Given the description of an element on the screen output the (x, y) to click on. 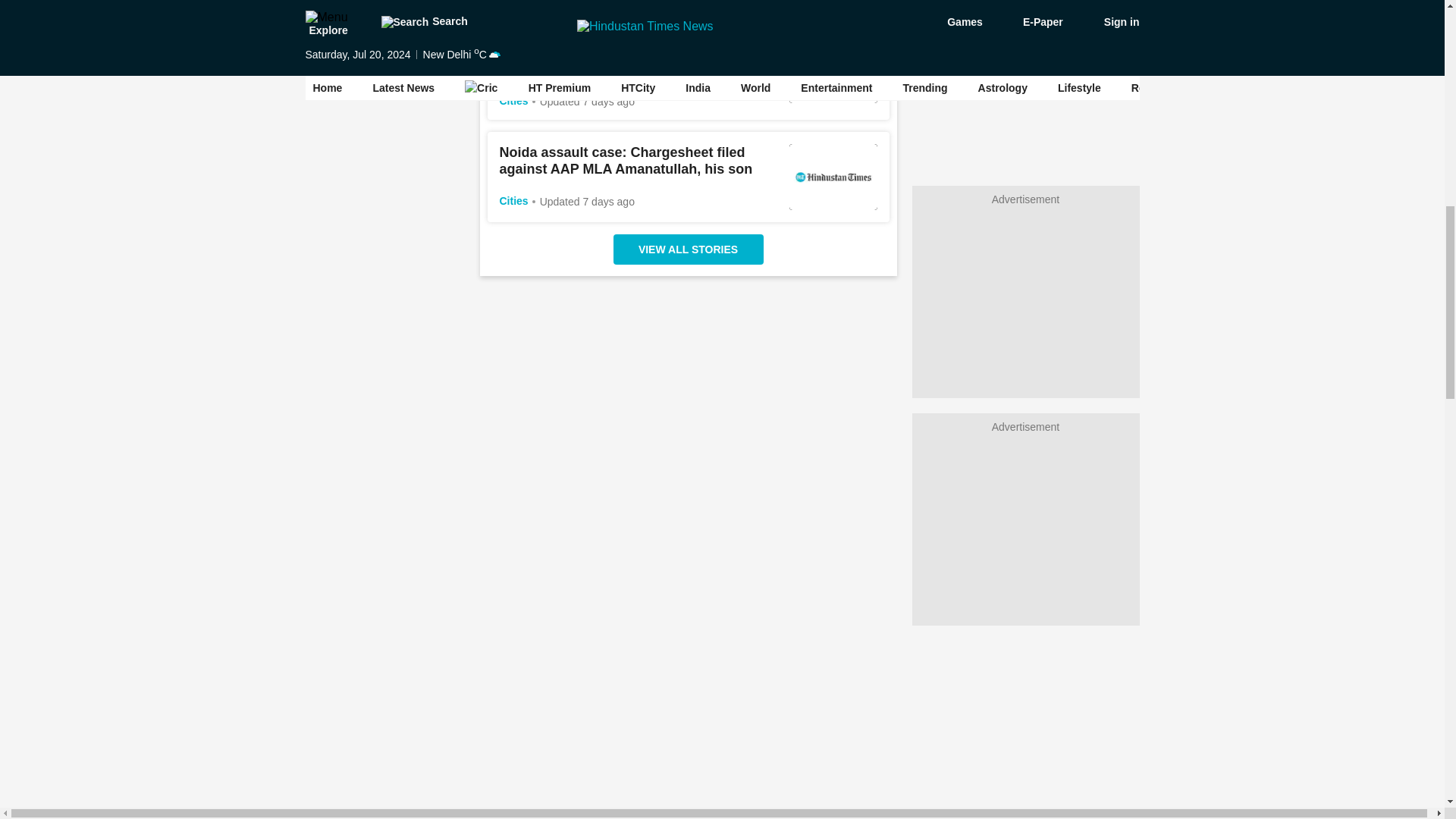
HT Image (832, 69)
